Given the description of an element on the screen output the (x, y) to click on. 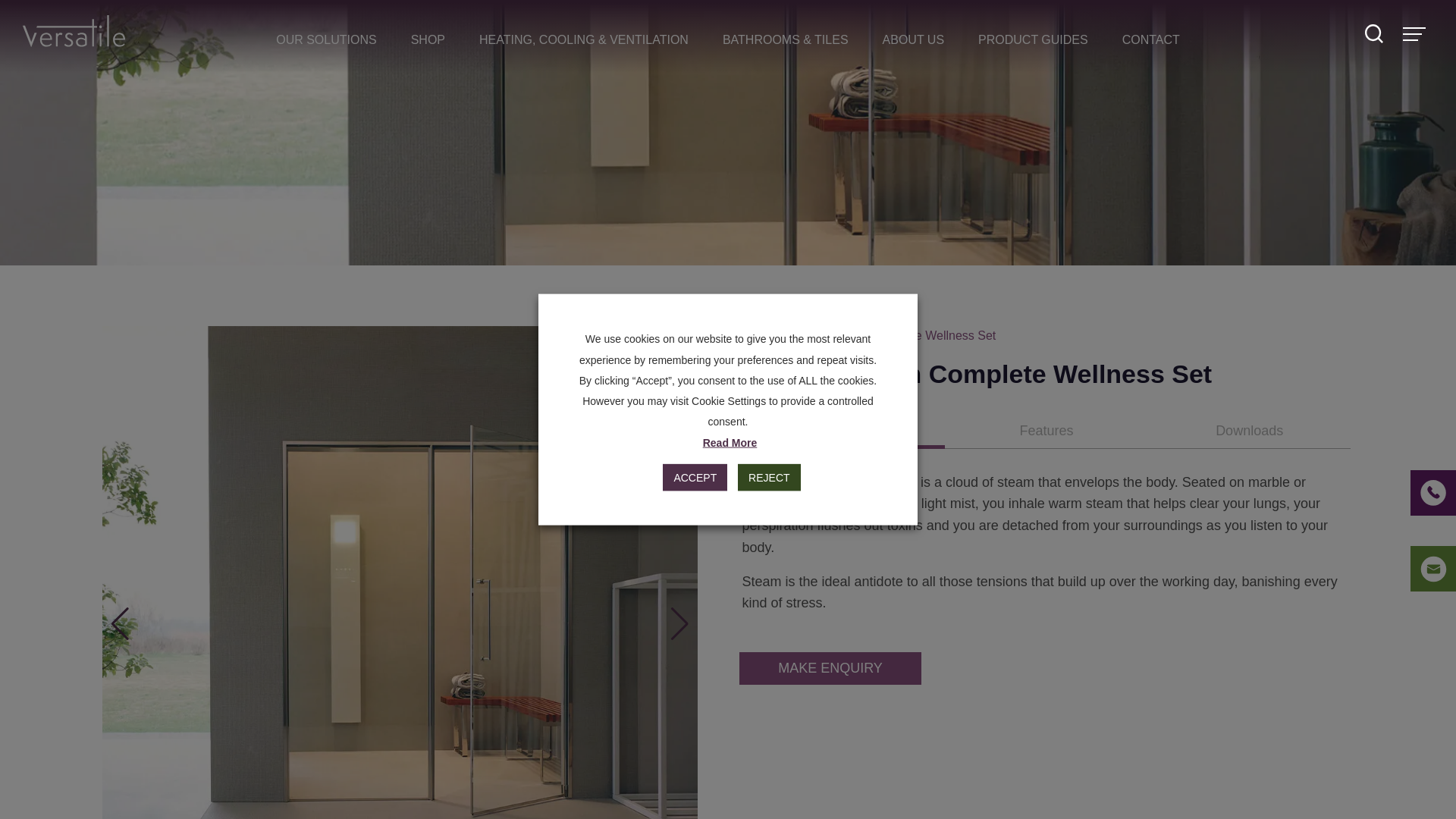
PRODUCT GUIDES (1032, 39)
ABOUT US (913, 39)
SHOP (427, 39)
OUR SOLUTIONS (325, 39)
